Given the description of an element on the screen output the (x, y) to click on. 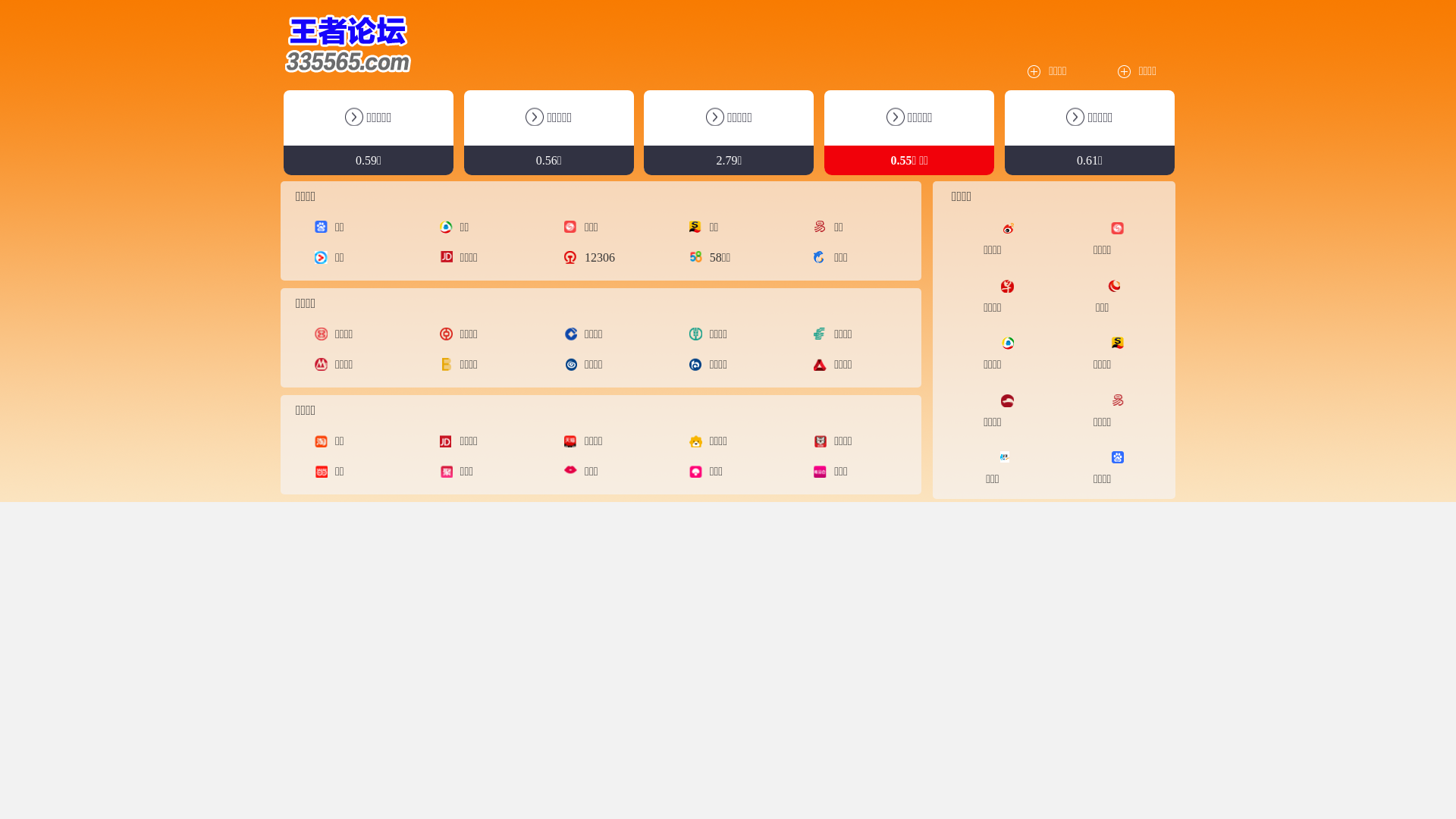
12306 Element type: text (593, 257)
